Given the description of an element on the screen output the (x, y) to click on. 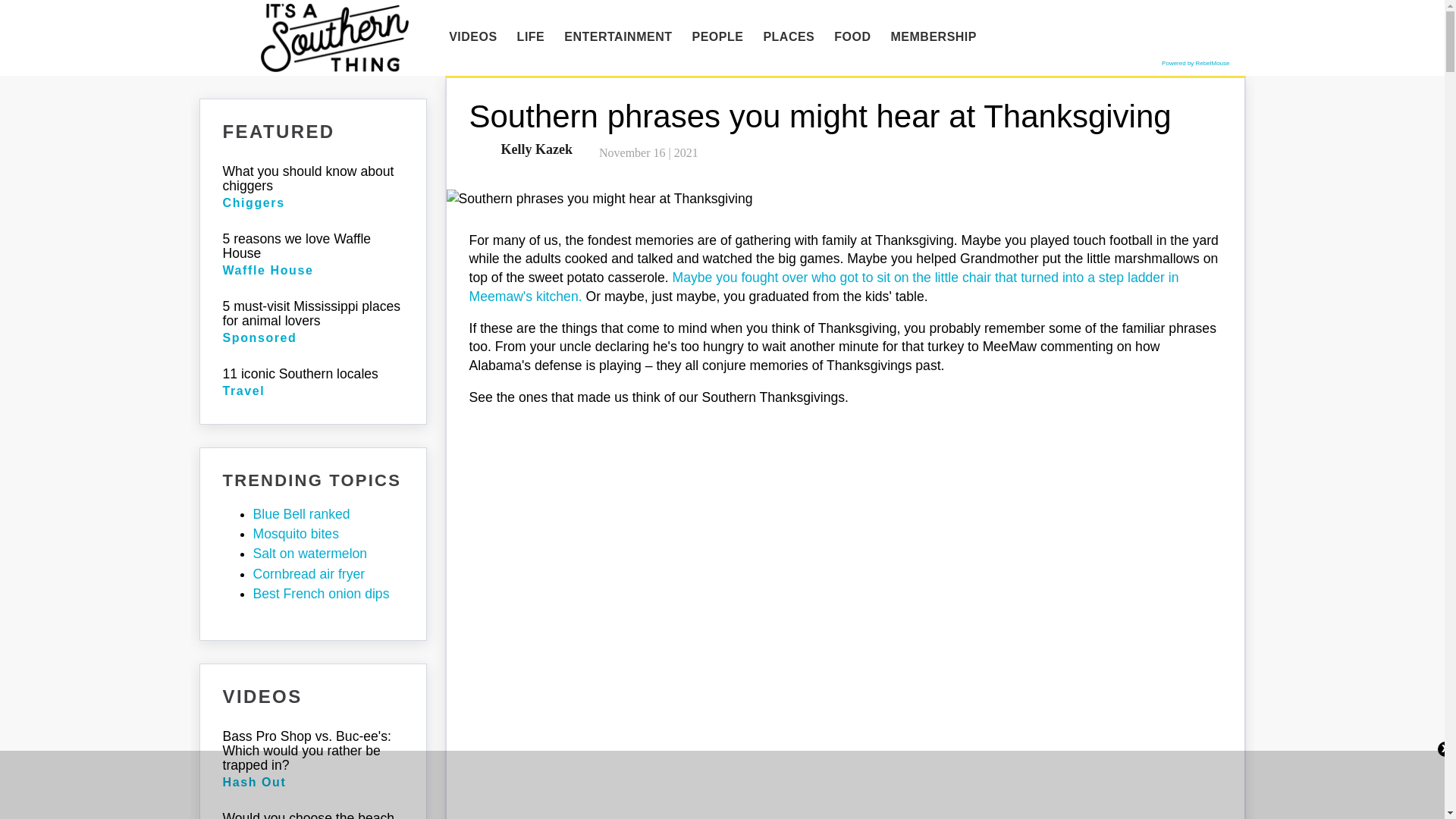
PEOPLE (716, 36)
ENTERTAINMENT (617, 36)
FOOD (852, 36)
VIDEOS (472, 36)
LIFE (530, 36)
Best CMS  (1194, 62)
Powered by RebelMouse (1194, 62)
MEMBERSHIP (933, 36)
Kelly Kazek (533, 149)
